Given the description of an element on the screen output the (x, y) to click on. 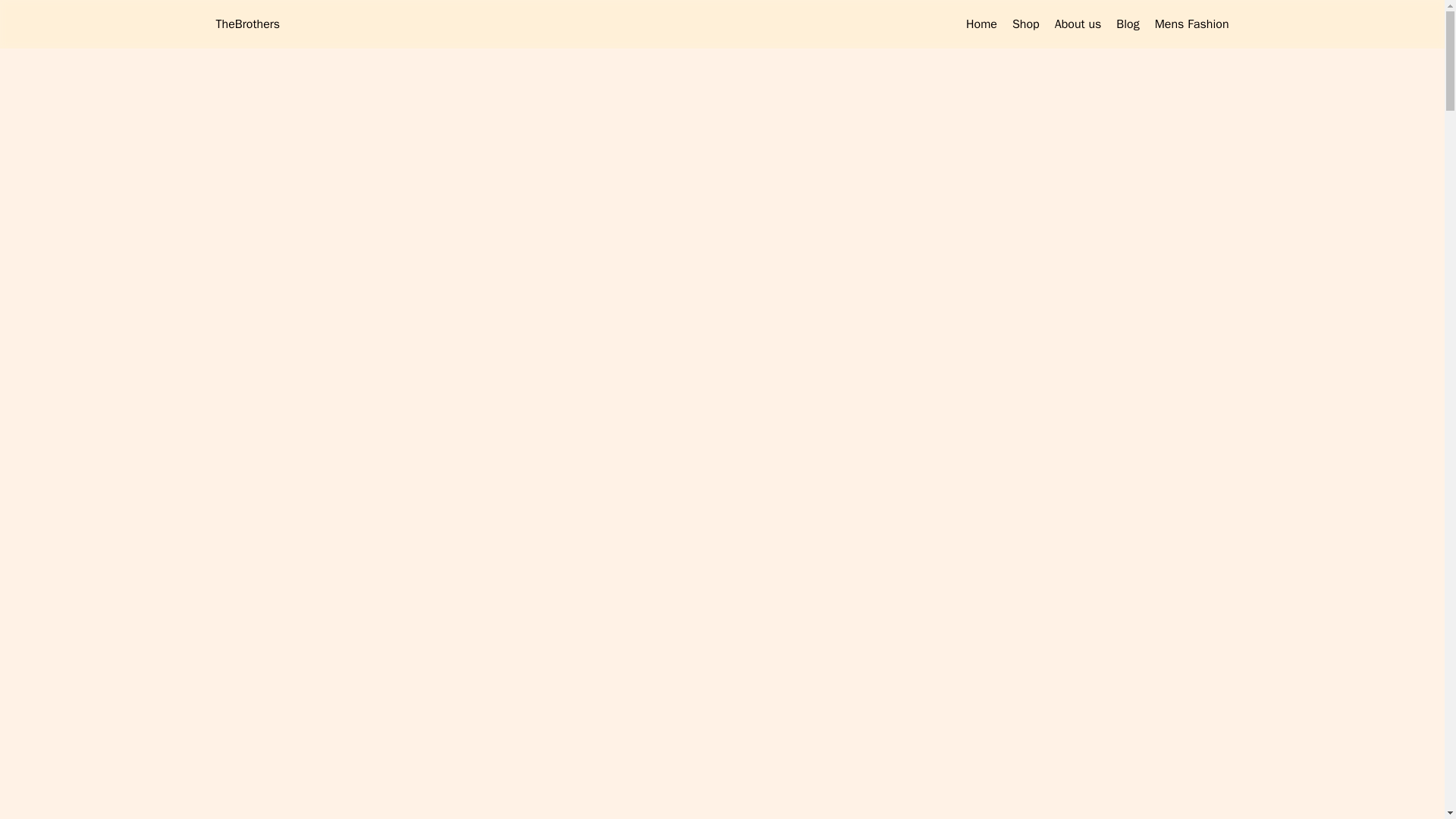
About us (1078, 24)
TheBrothers (247, 24)
Mens Fashion (1191, 24)
Home (981, 24)
Blog (1127, 24)
Shop (1025, 24)
